Given the description of an element on the screen output the (x, y) to click on. 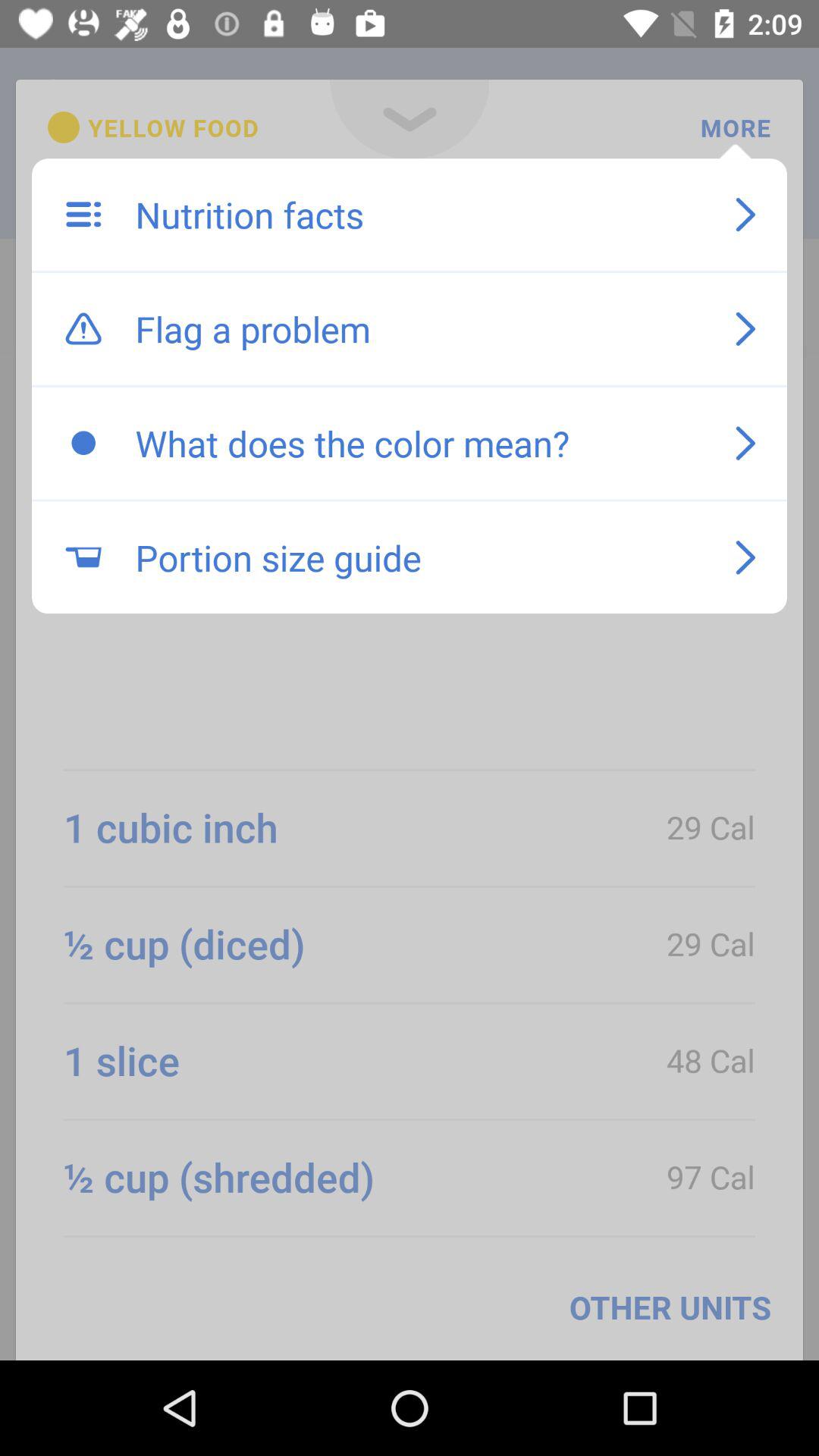
press the icon below the nutrition facts (419, 328)
